Given the description of an element on the screen output the (x, y) to click on. 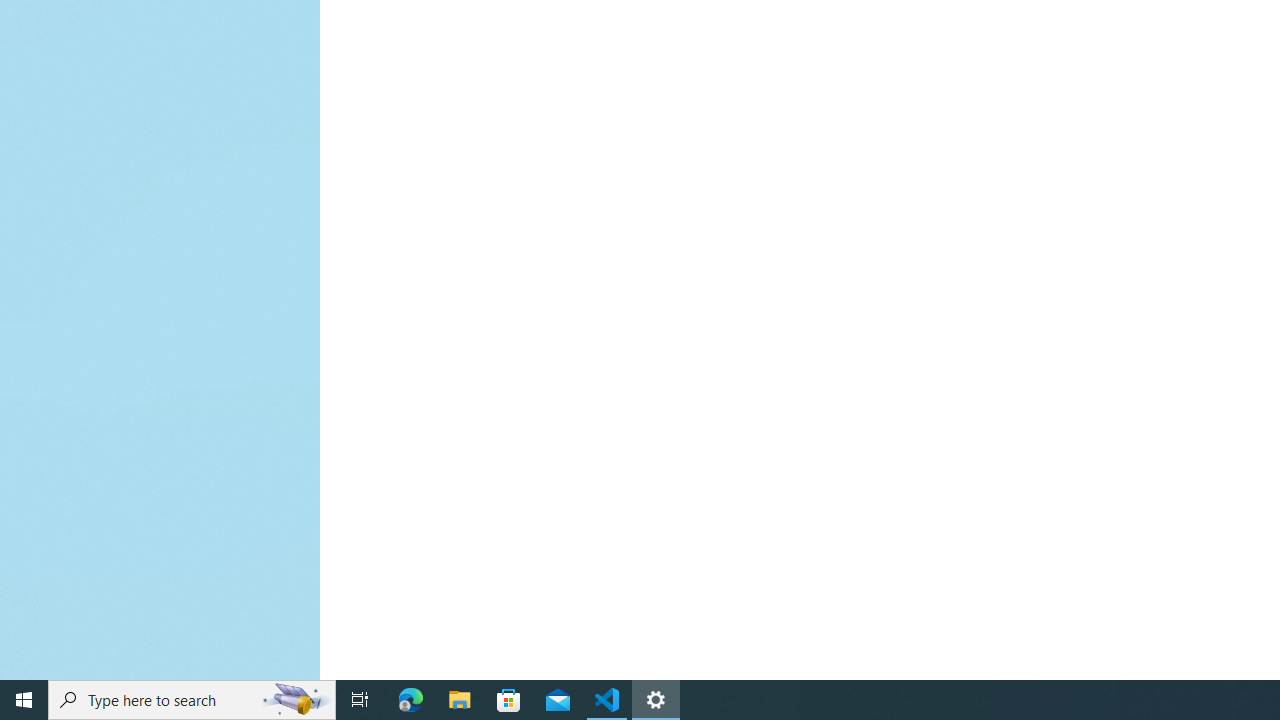
Settings - 1 running window (656, 699)
